Given the description of an element on the screen output the (x, y) to click on. 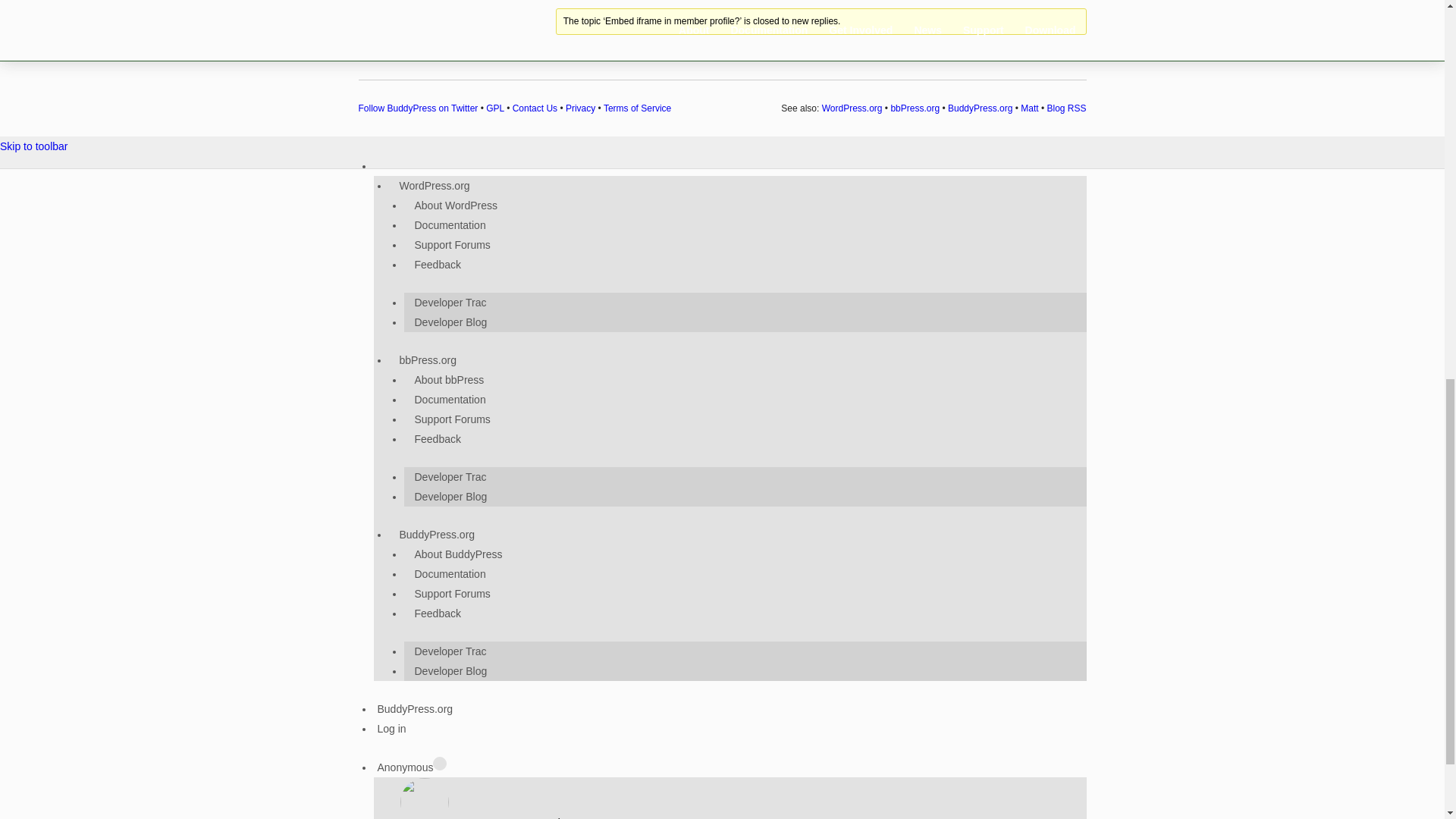
Privacy (580, 108)
bbPress.org (914, 108)
Blog RSS (1066, 108)
Contact Us (534, 108)
GPL (494, 108)
Skip to toolbar (34, 146)
Matt (1029, 108)
Follow BuddyPress on Twitter (417, 108)
Terms of Service (637, 108)
BuddyPress.org (979, 108)
WordPress.org (852, 108)
WordPress.org (439, 185)
